Given the description of an element on the screen output the (x, y) to click on. 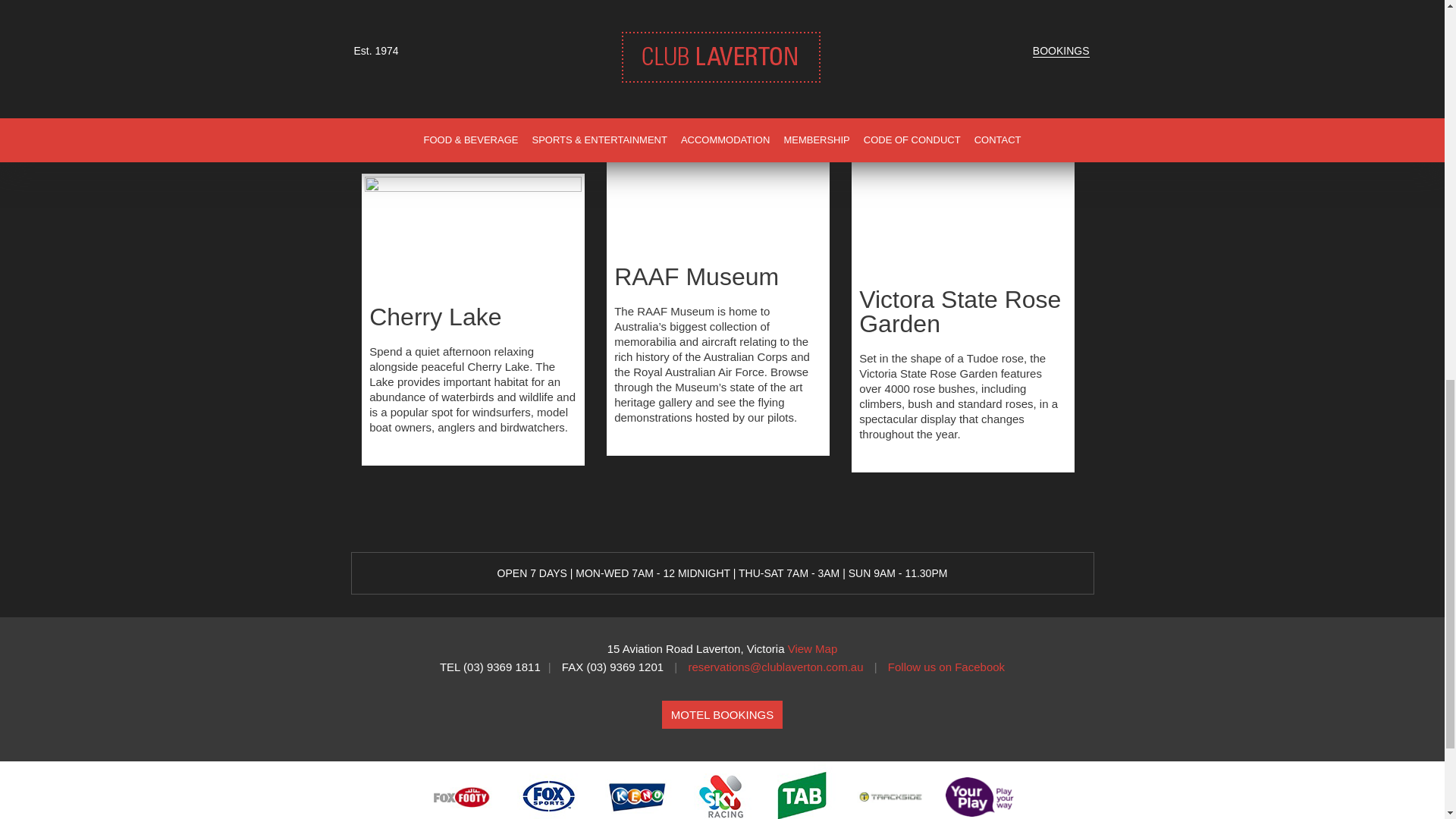
Follow us on Facebook (946, 666)
facebook (946, 666)
Motel Bookings (722, 714)
MOTEL BOOKINGS (722, 714)
View Map (812, 648)
Map (812, 648)
